Given the description of an element on the screen output the (x, y) to click on. 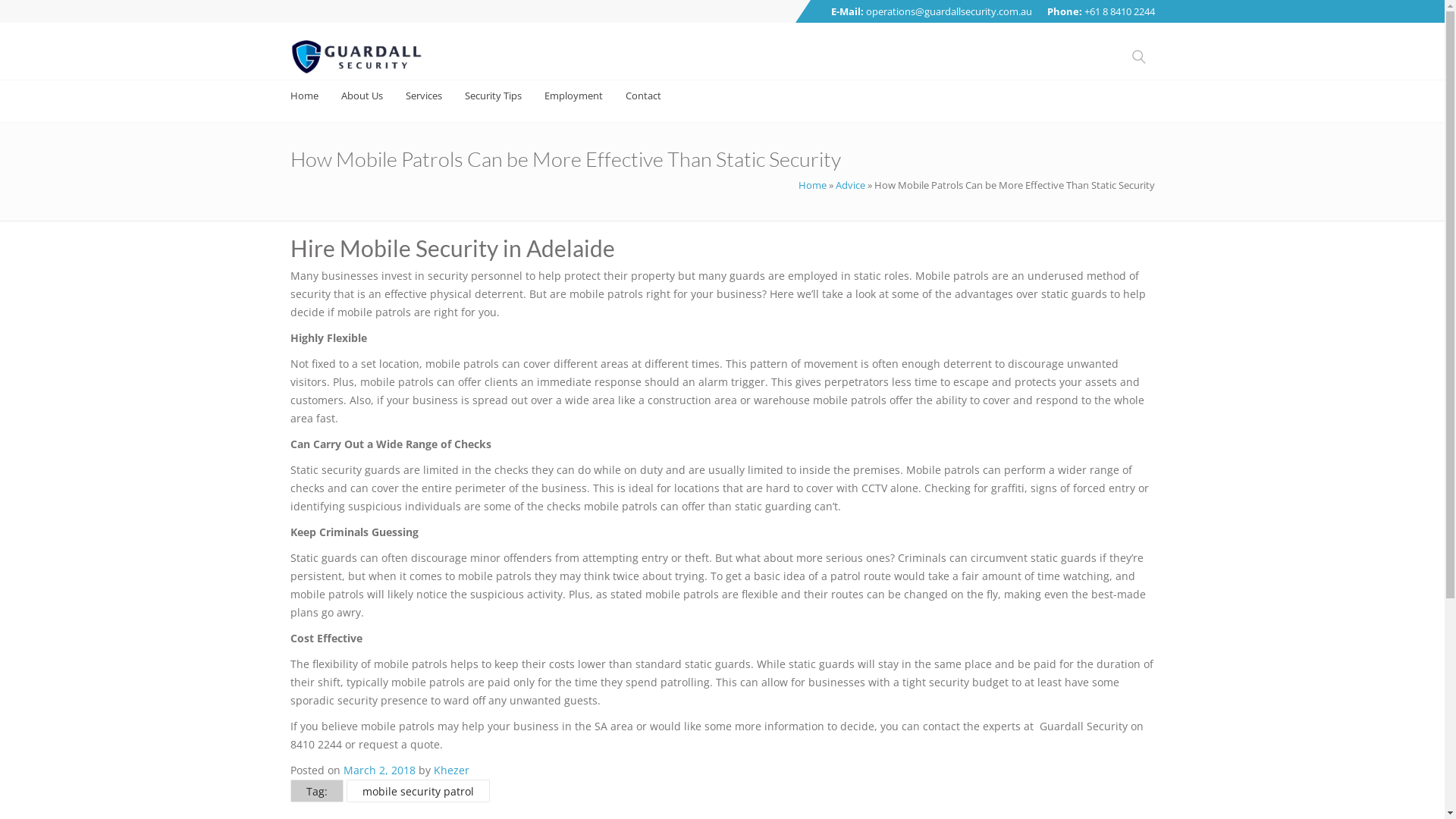
Contact Element type: text (642, 95)
About Us Element type: text (361, 95)
Employment Element type: text (573, 95)
March 2, 2018 Element type: text (378, 769)
mobile security patrol Element type: text (418, 793)
Services Element type: text (422, 95)
Home Element type: text (811, 184)
Advice Element type: text (850, 184)
Khezer Element type: text (451, 769)
Home Element type: text (303, 95)
Security Tips Element type: text (492, 95)
